Given the description of an element on the screen output the (x, y) to click on. 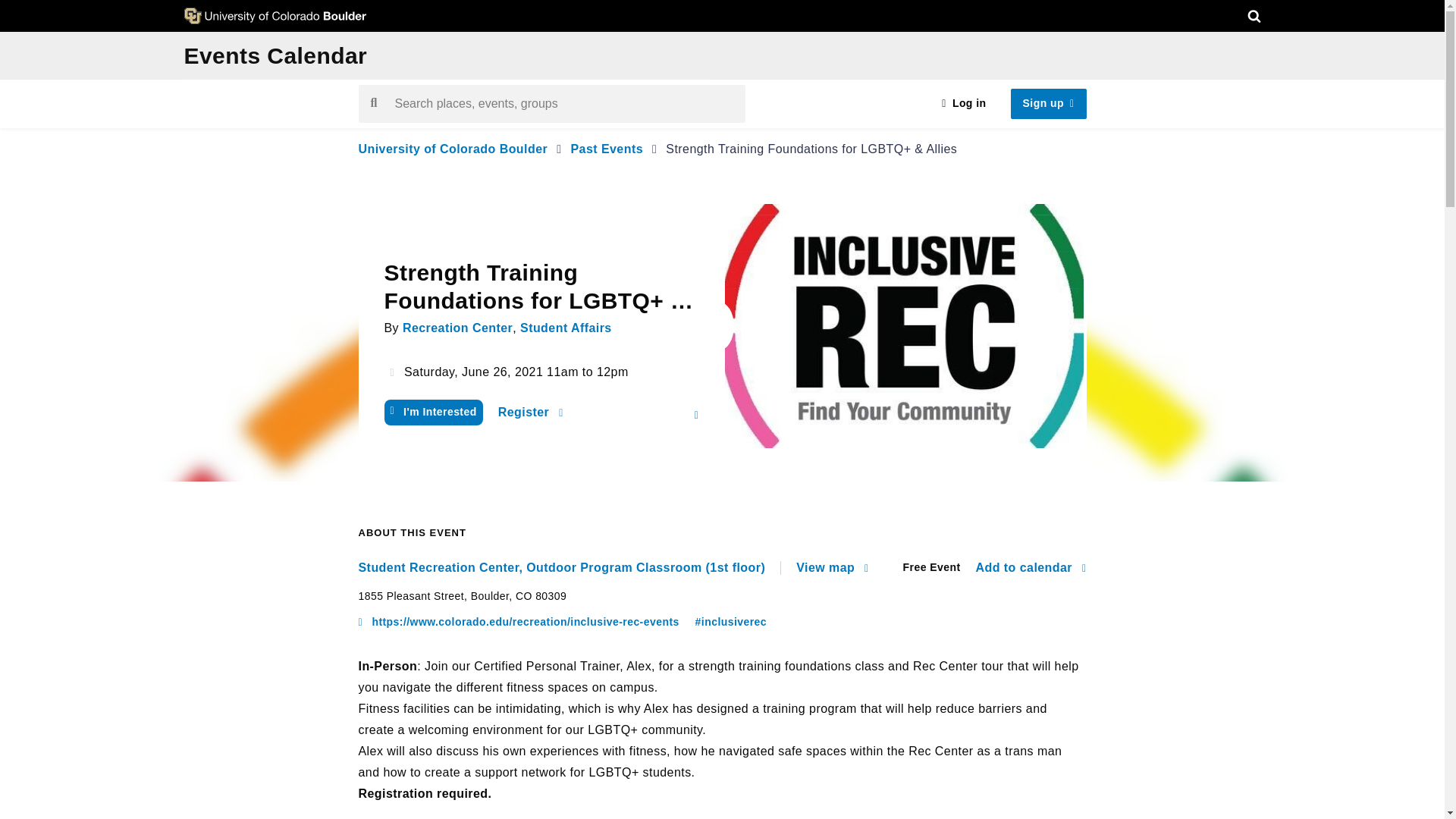
Recreation Center (457, 327)
Sign up (1048, 103)
University of Colorado Boulder (452, 148)
Add to calendar (1030, 567)
Events Calendar (274, 55)
Student Affairs (565, 327)
Past Events (606, 148)
I'm Interested (432, 412)
Register (530, 412)
View map (831, 567)
Log in (963, 103)
